Given the description of an element on the screen output the (x, y) to click on. 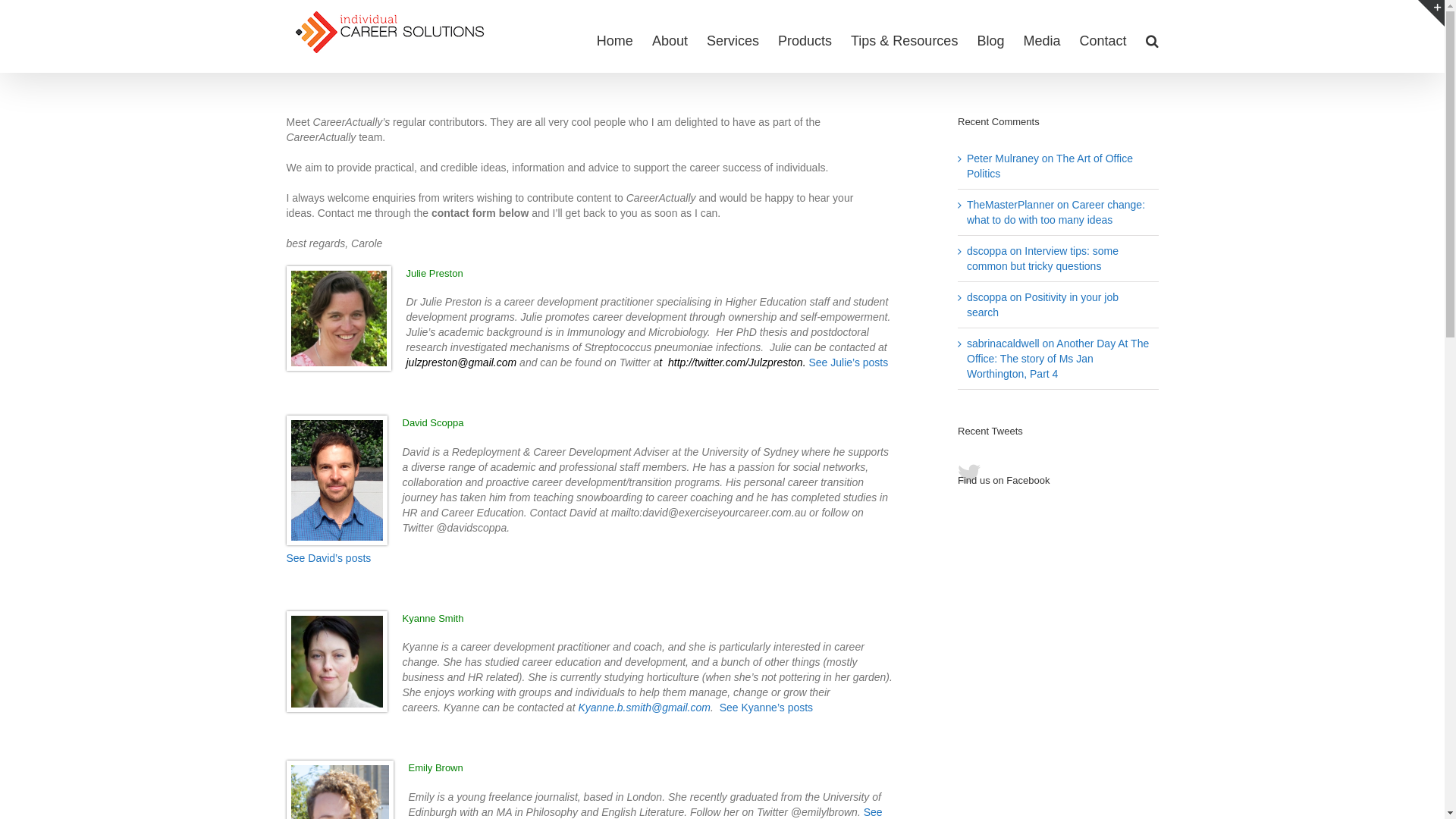
Kyanne.b.smith@gmail.com Element type: text (643, 707)
Julie Preston Element type: text (434, 273)
Contact Element type: text (1102, 39)
The Art of Office Politics Element type: text (1049, 165)
Media Element type: text (1041, 39)
sabrinacaldwell Element type: text (1002, 343)
Home Element type: text (614, 39)
TheMasterPlanner Element type: text (1010, 204)
Products Element type: text (804, 39)
dscoppa Element type: text (986, 250)
Career change: what to do with too many ideas Element type: text (1055, 211)
David Scoppa Element type: text (432, 422)
Services Element type: text (732, 39)
Tips & Resources Element type: text (903, 39)
Interview tips: some common but tricky questions Element type: text (1042, 258)
http://twitter.com/Julzpreston Element type: text (735, 362)
Blog Element type: text (990, 39)
Kyanne Smith Element type: text (432, 618)
dscoppa Element type: text (986, 297)
julzpreston@gmail.com Element type: text (461, 362)
Positivity in your job search Element type: text (1042, 304)
Peter Mulraney Element type: text (1002, 158)
About Element type: text (669, 39)
